Given the description of an element on the screen output the (x, y) to click on. 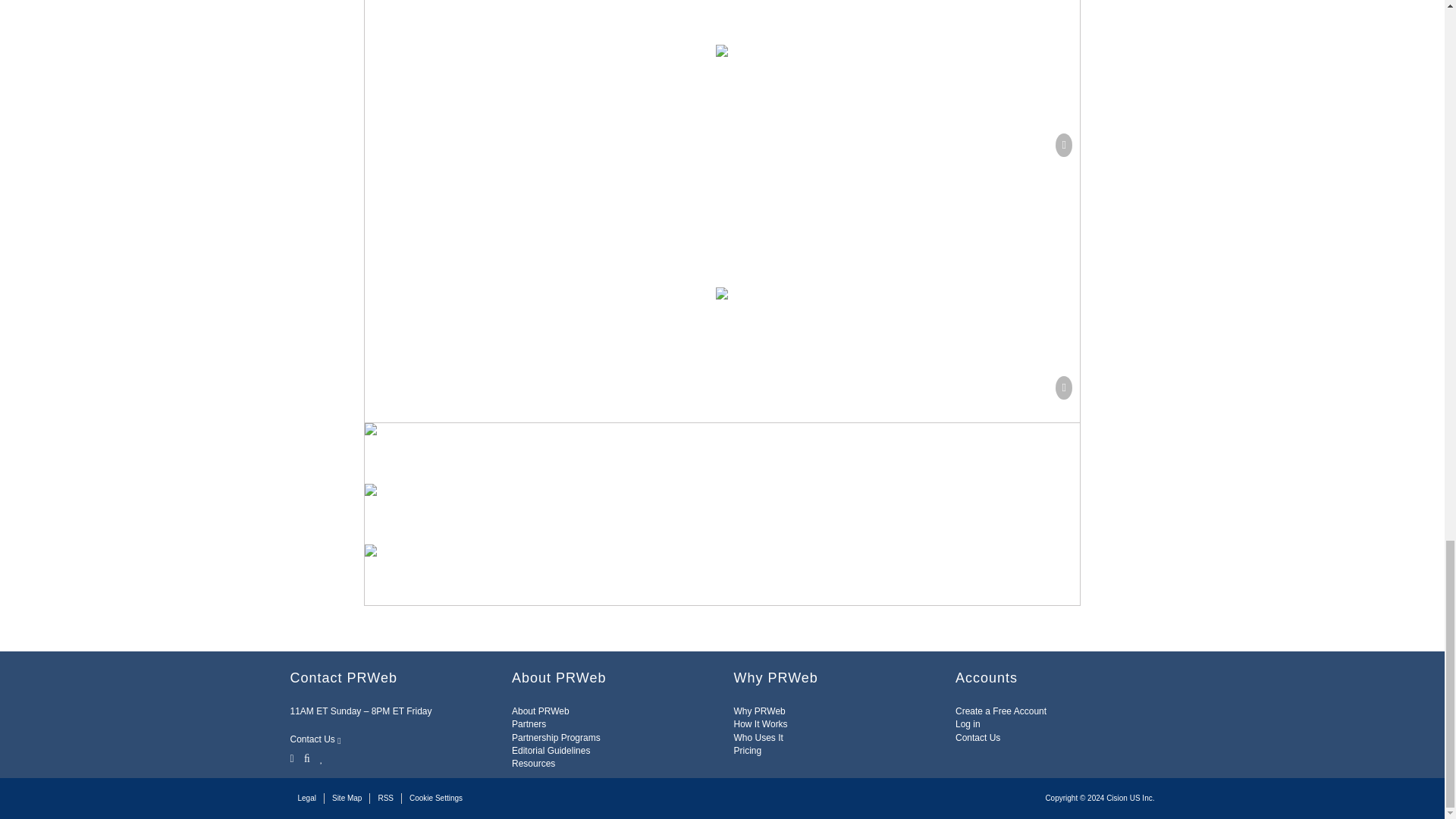
Partnership Programs (555, 737)
Resources (533, 763)
How It Works (760, 724)
Why PRWeb (759, 710)
About PRWeb (540, 710)
Editorial Guidelines (550, 750)
Facebook (306, 758)
Partners (529, 724)
